Given the description of an element on the screen output the (x, y) to click on. 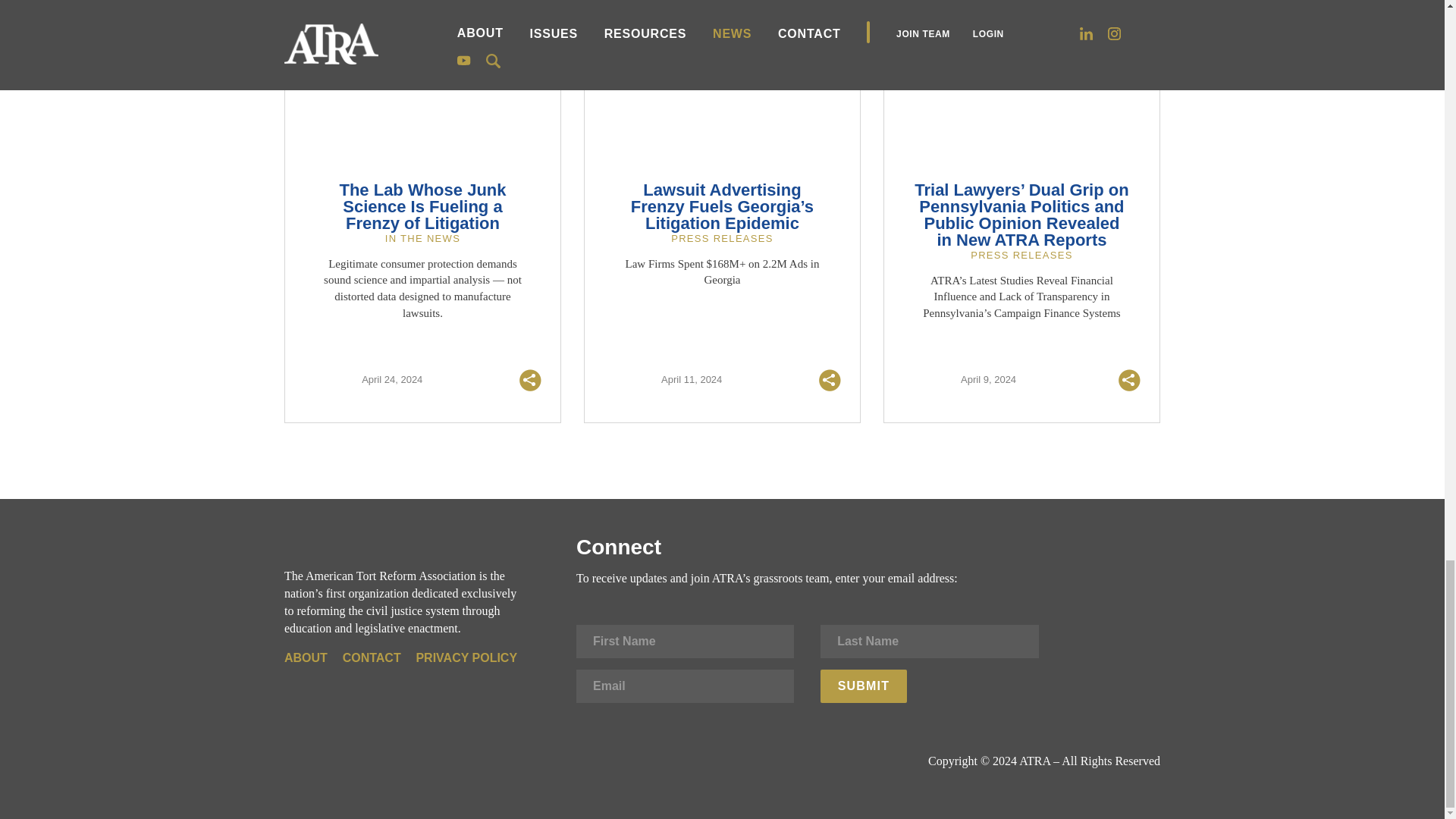
Submit (864, 685)
